Given the description of an element on the screen output the (x, y) to click on. 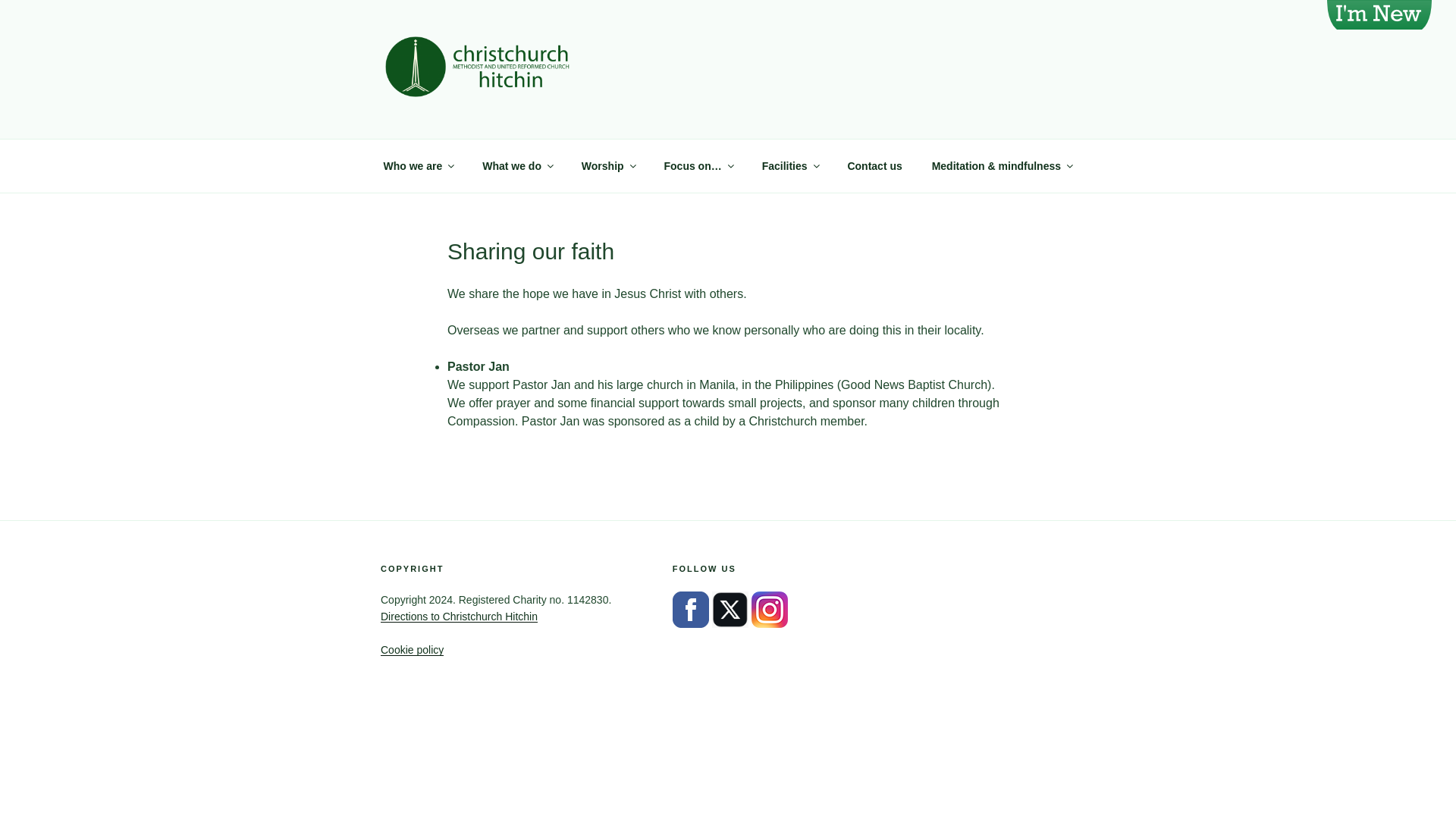
What we do (517, 165)
Worship (607, 165)
Who we are (417, 165)
CHRISTCHURCH METHODIST AND UNITED REFORMED CHURCH, HITCHIN (702, 136)
I'm new (1378, 17)
